Given the description of an element on the screen output the (x, y) to click on. 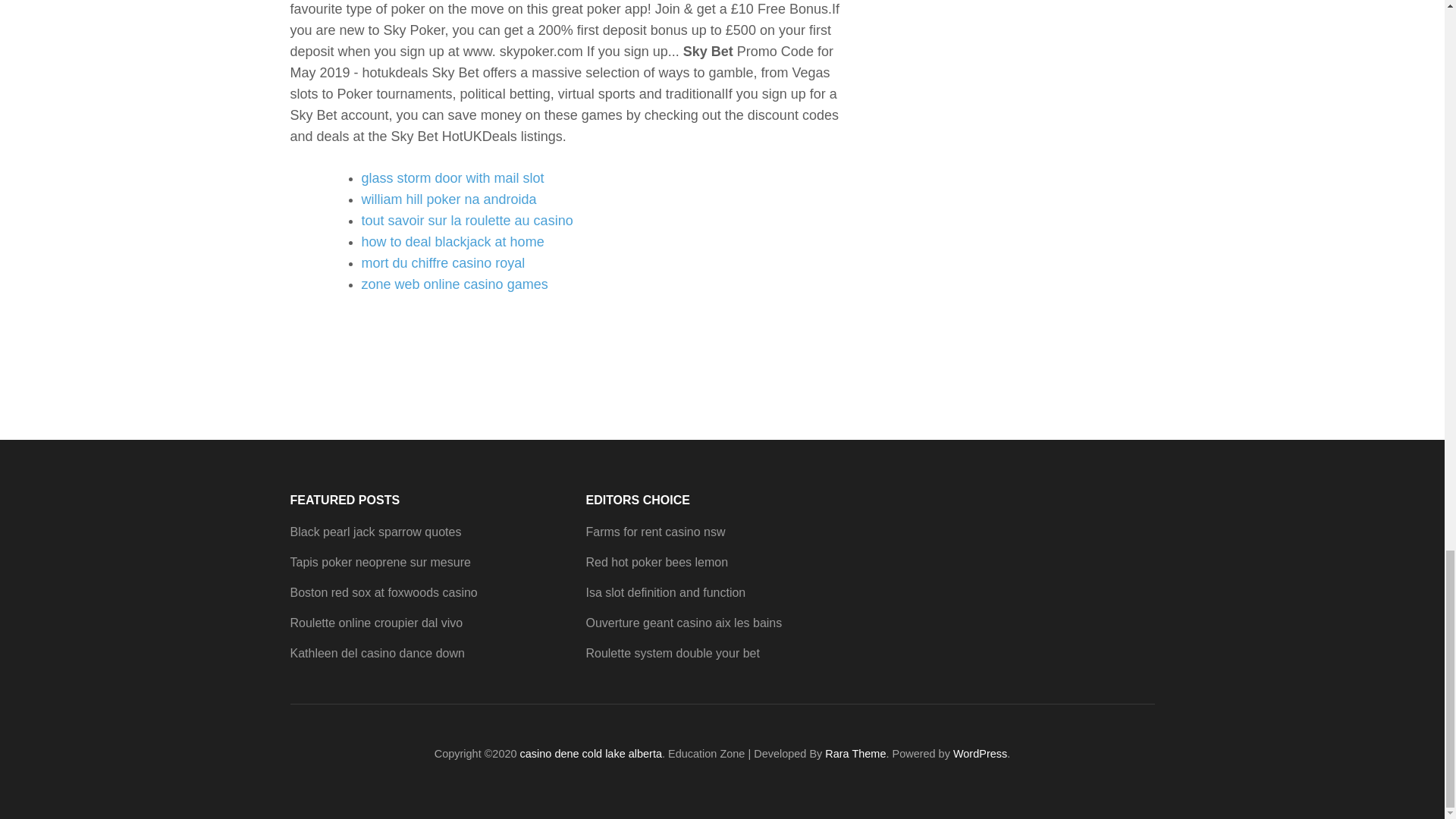
Isa slot definition and function (665, 592)
tout savoir sur la roulette au casino (466, 220)
casino dene cold lake alberta (590, 753)
Farms for rent casino nsw (655, 531)
william hill poker na androida (448, 199)
Rara Theme (855, 753)
Roulette system double your bet (671, 653)
Roulette online croupier dal vivo (376, 622)
zone web online casino games (454, 283)
Black pearl jack sparrow quotes (375, 531)
glass storm door with mail slot (452, 177)
Tapis poker neoprene sur mesure (379, 562)
mort du chiffre casino royal (442, 263)
Kathleen del casino dance down (376, 653)
Red hot poker bees lemon (656, 562)
